Given the description of an element on the screen output the (x, y) to click on. 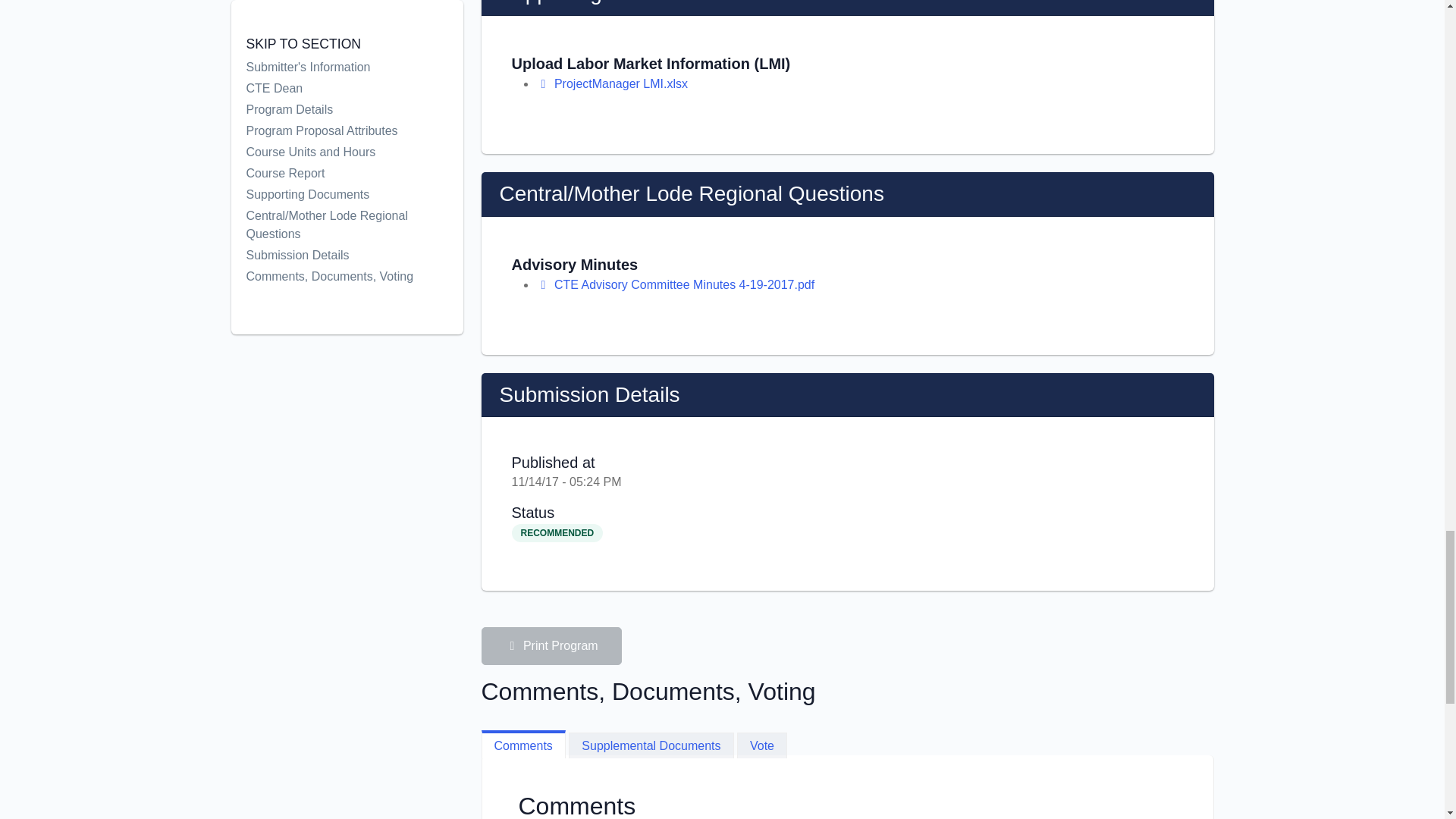
Print Program (550, 646)
Comments (522, 744)
Supplemental Documents (674, 284)
Save File (651, 745)
Save File (542, 83)
Need a PDF? Click print and save as PDF. (542, 285)
Vote (550, 646)
